Given the description of an element on the screen output the (x, y) to click on. 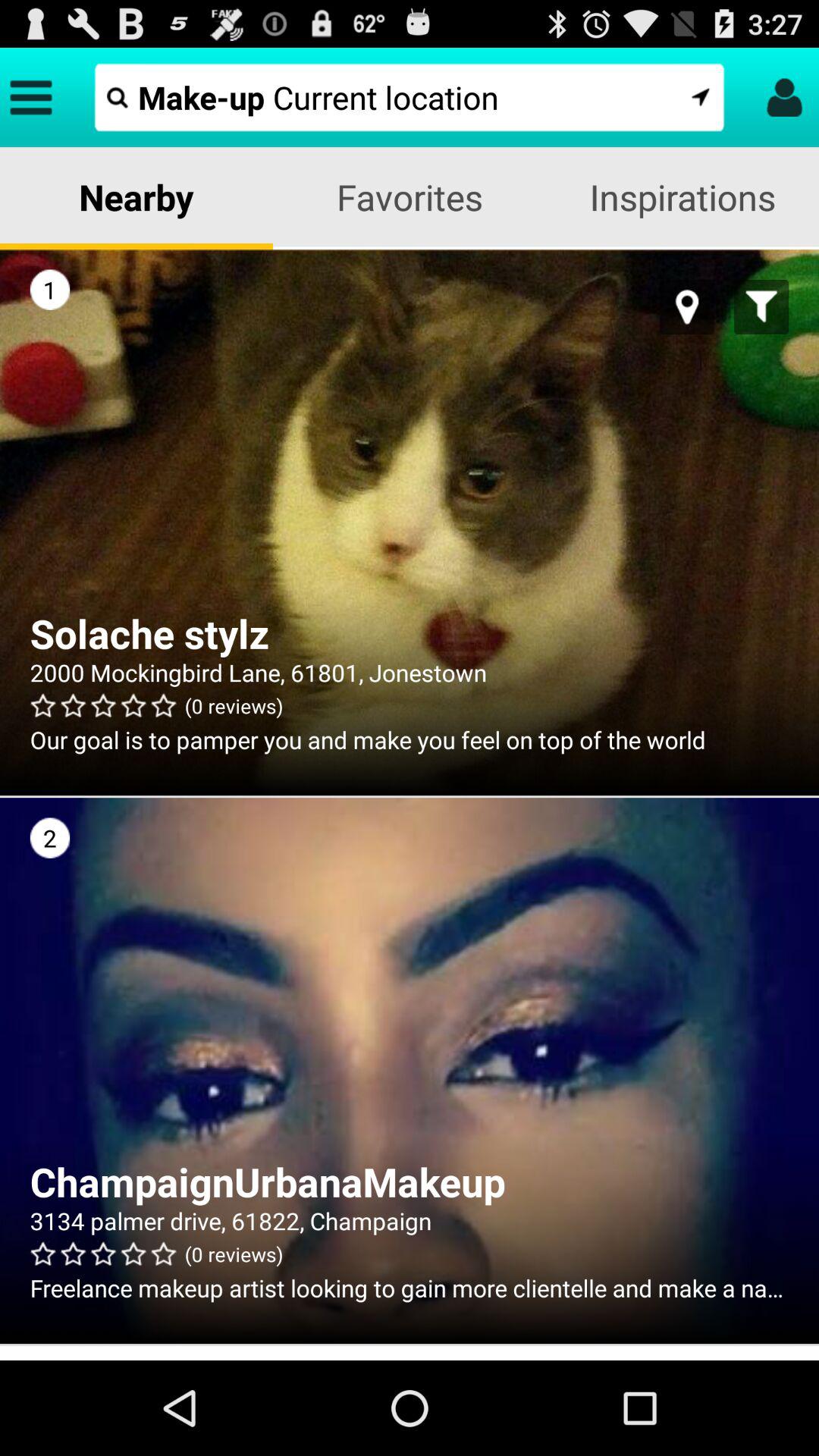
open item to the right of nearby icon (409, 196)
